Given the description of an element on the screen output the (x, y) to click on. 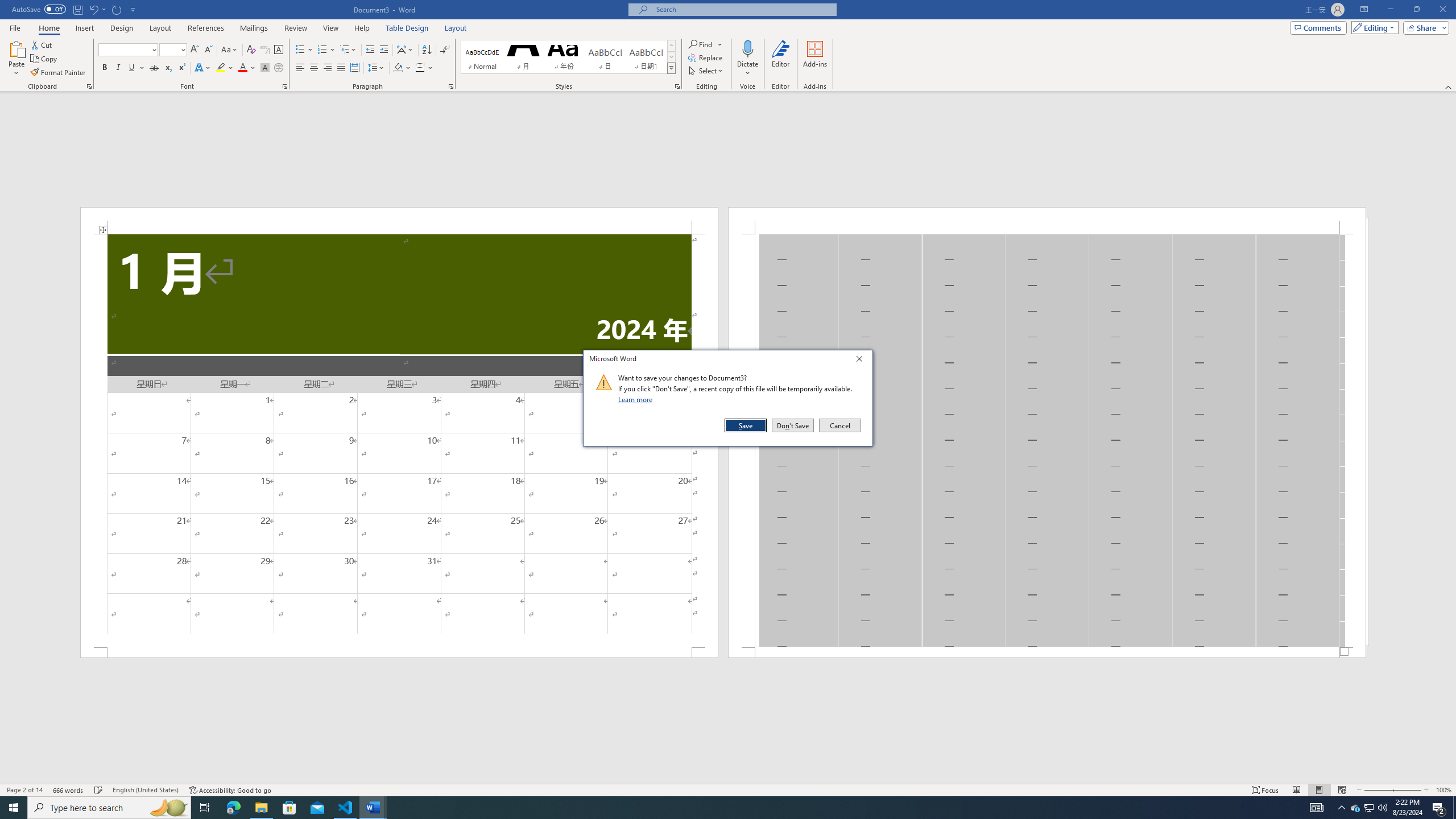
Repeat Style (117, 9)
Learn more (636, 399)
Running applications (717, 807)
Page Number Page 2 of 14 (24, 790)
